Given the description of an element on the screen output the (x, y) to click on. 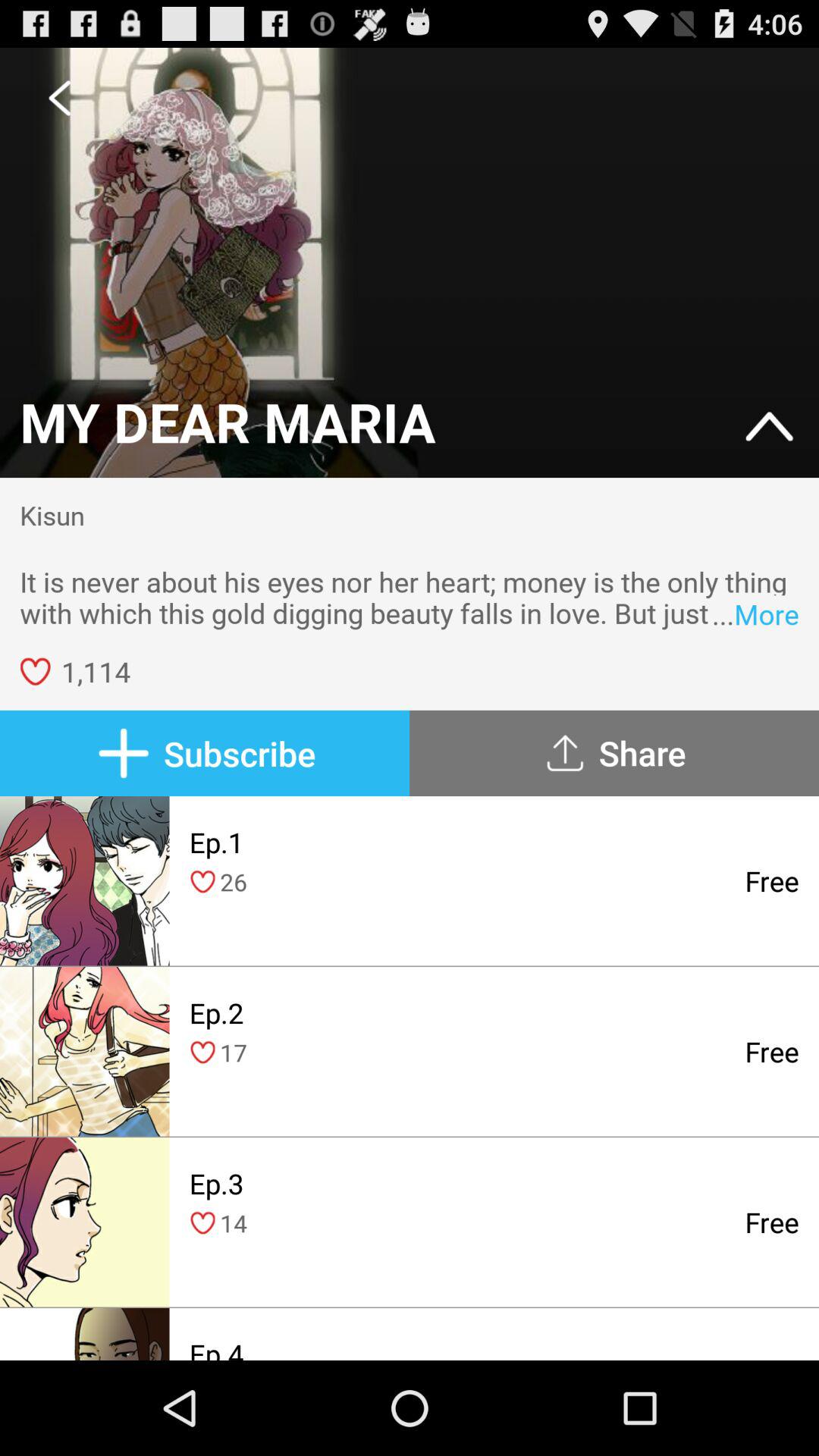
open icon below it is never item (614, 753)
